Given the description of an element on the screen output the (x, y) to click on. 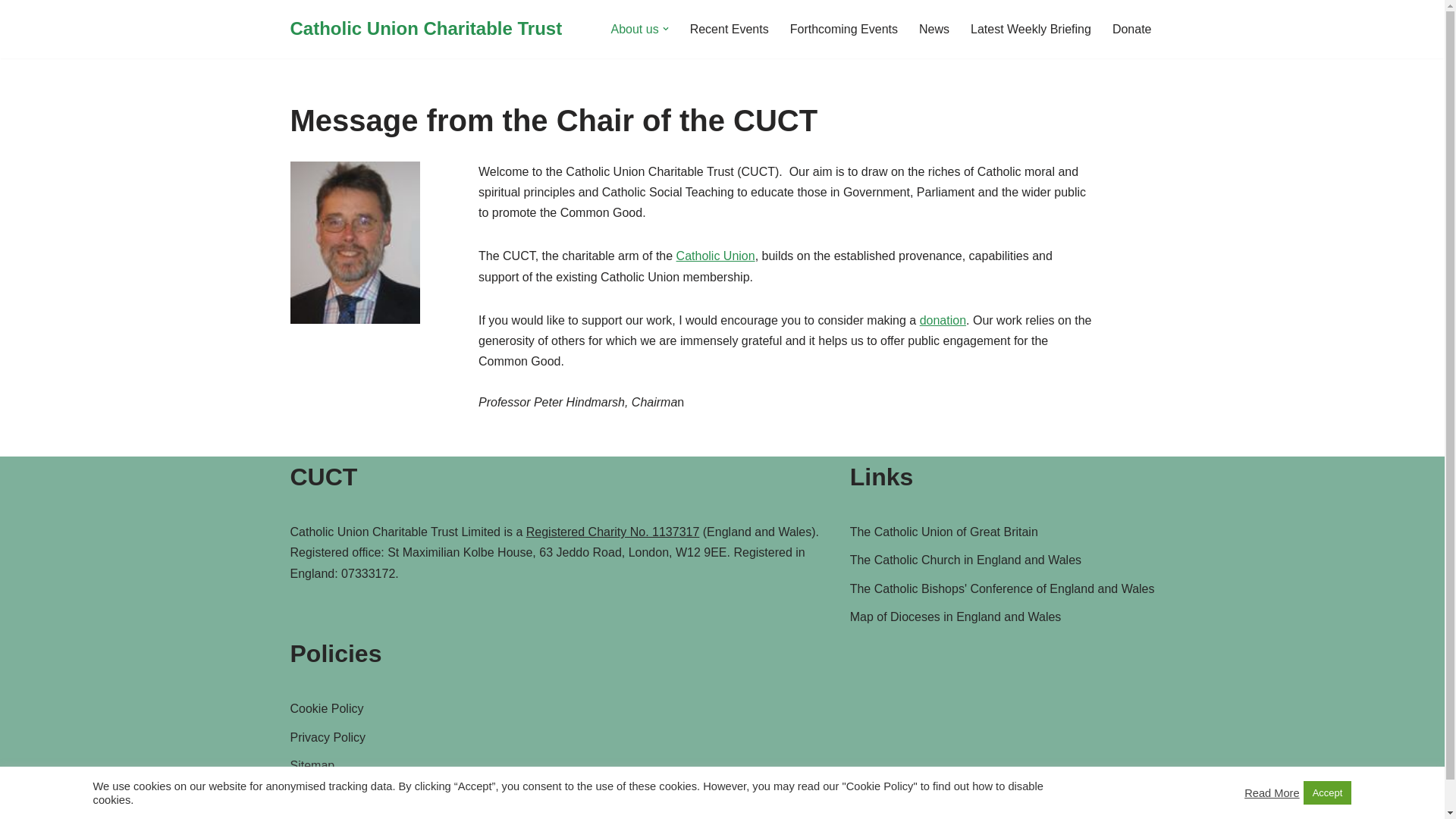
The Catholic Church in England and Wales (965, 559)
Latest Weekly Briefing (1030, 28)
News (933, 28)
Recent Events (729, 28)
Registered Charity No. 1137317 (612, 531)
Privacy Policy (327, 737)
Copyright (314, 793)
About us (635, 28)
Catholic Union Charitable Trust (425, 29)
The Catholic Union of Great Britain (944, 531)
Forthcoming Events (844, 28)
The Catholic Bishops' Conference of England and Wales (1002, 588)
Skip to content (11, 31)
Donate (1131, 28)
Catholic Union (716, 255)
